Given the description of an element on the screen output the (x, y) to click on. 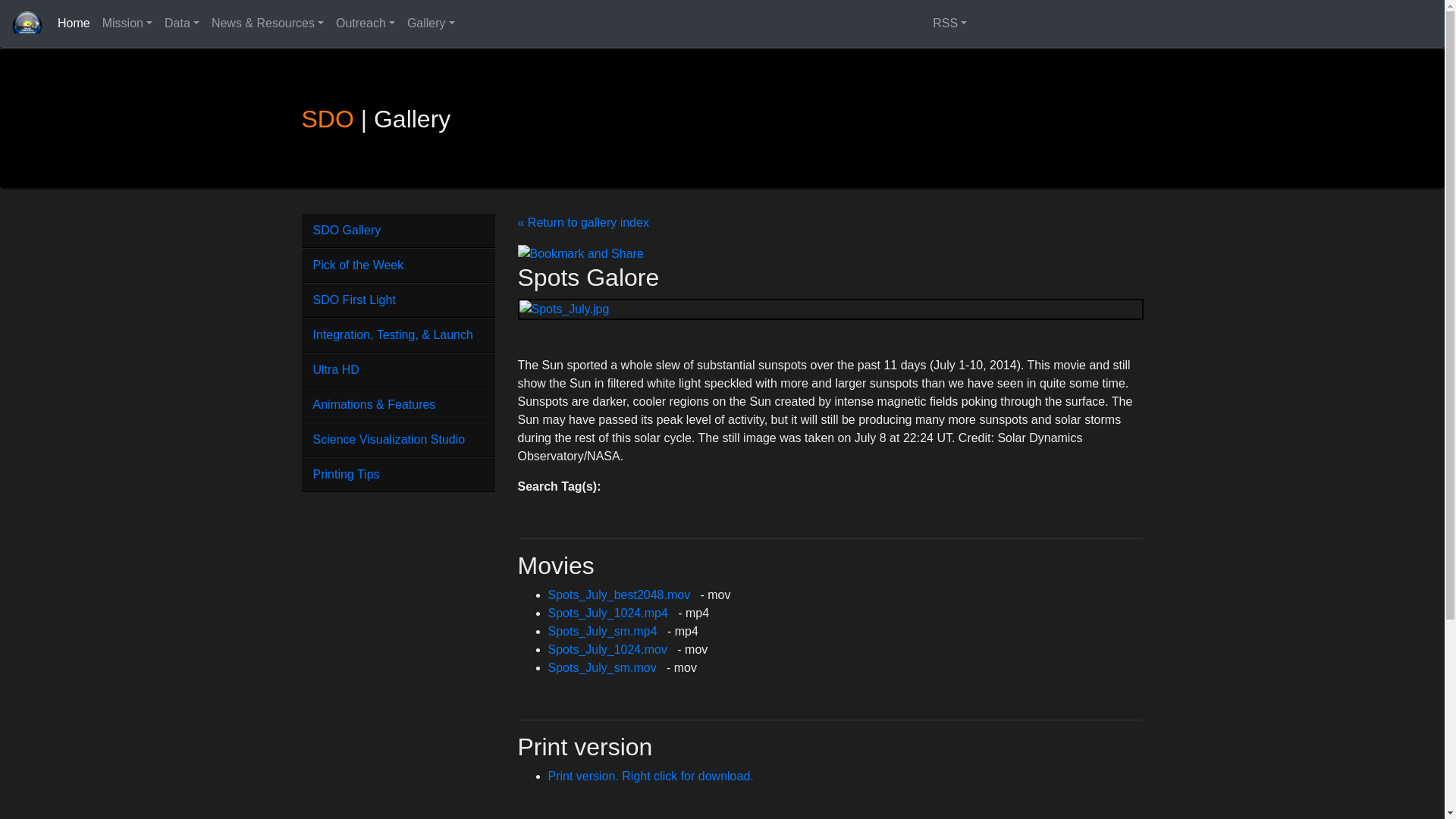
Outreach (365, 23)
Mission (127, 23)
Data (181, 23)
